Given the description of an element on the screen output the (x, y) to click on. 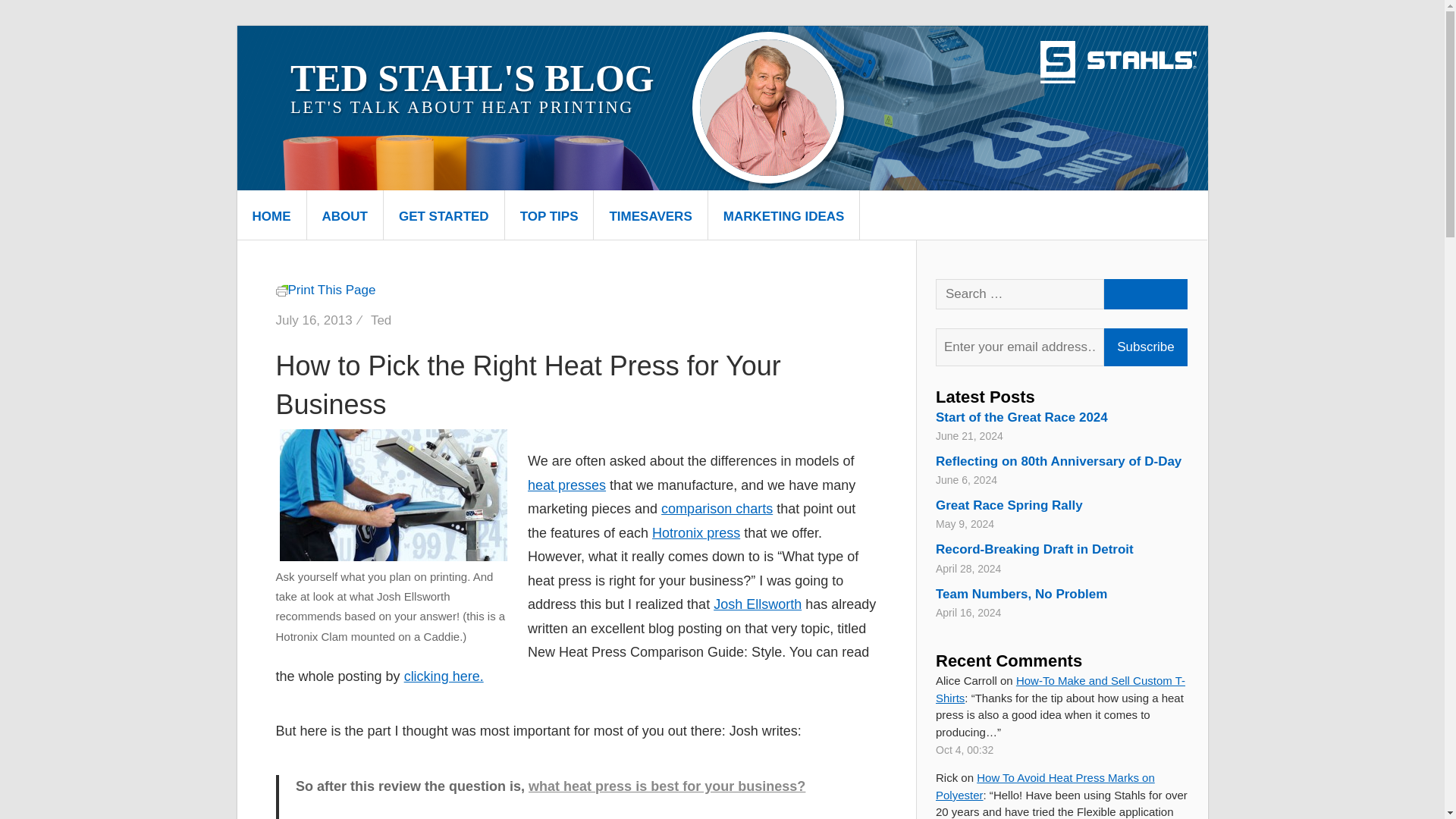
July 16, 2013 (314, 319)
TED STAHL'S BLOG (471, 77)
Josh Ellsworth (757, 604)
heat presses (566, 485)
8:34 pm (314, 319)
clicking here. (443, 676)
Print This Page (325, 289)
Enter your email address: (1019, 347)
Hotronix press (695, 532)
View all posts by Ted (381, 319)
TIMESAVERS (650, 214)
ABOUT (343, 214)
Ted (381, 319)
MARKETING IDEAS (783, 214)
